Given the description of an element on the screen output the (x, y) to click on. 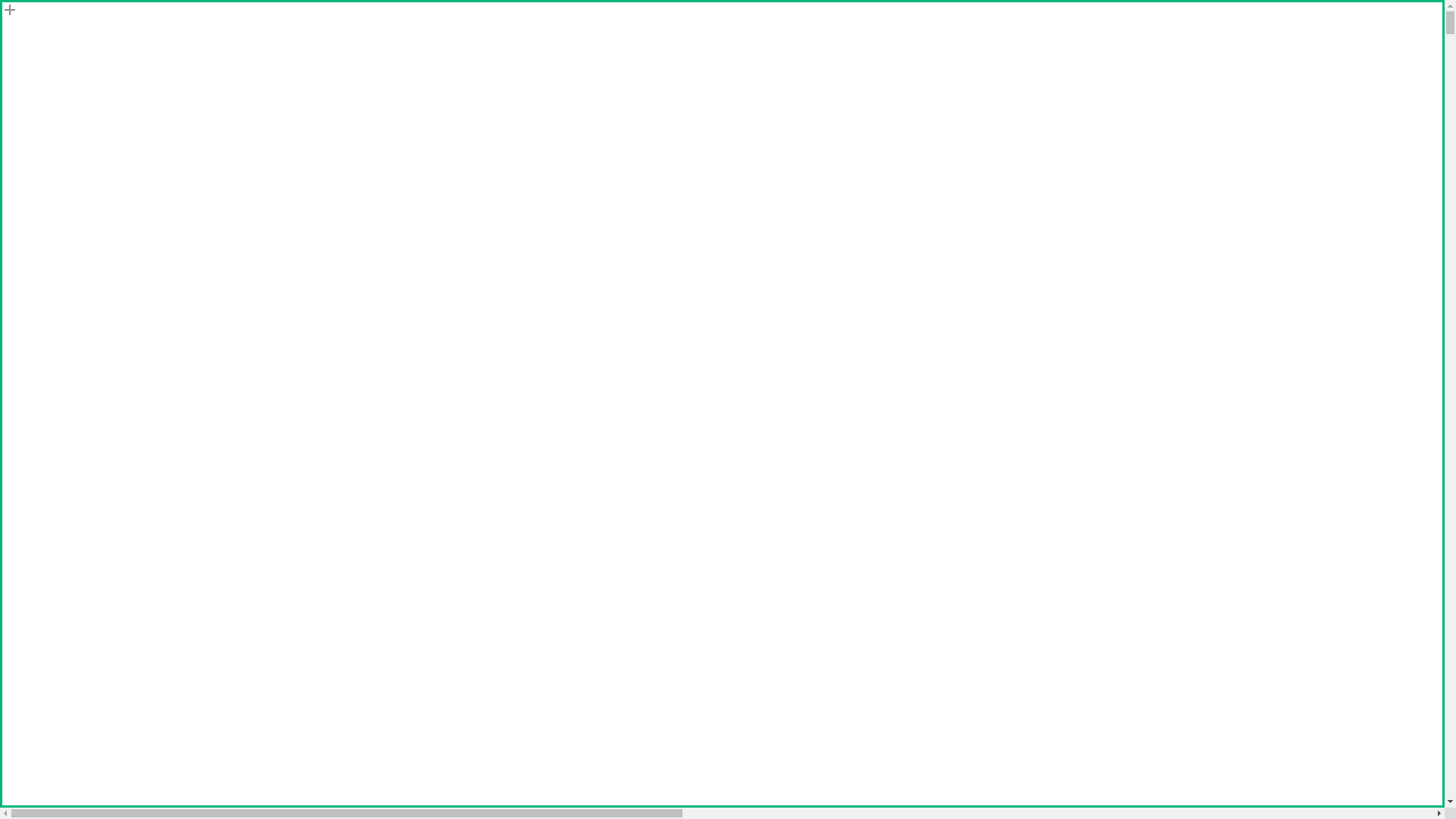
Skip to main content Element type: text (5, 5)
